Given the description of an element on the screen output the (x, y) to click on. 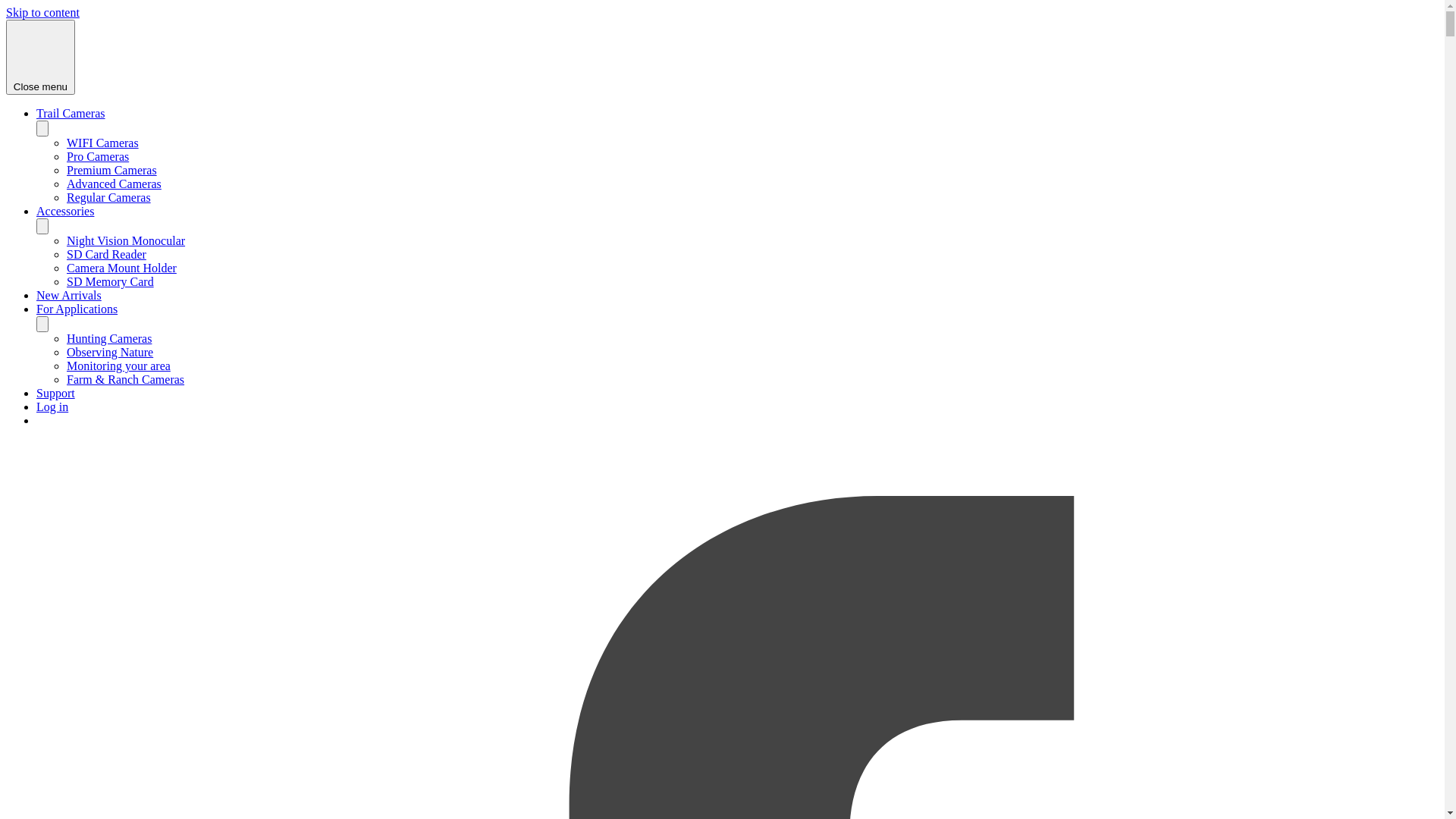
Trail Cameras Element type: text (70, 112)
Monitoring your area Element type: text (118, 365)
Farm & Ranch Cameras Element type: text (125, 379)
Accessories Element type: text (65, 210)
Support Element type: text (55, 392)
Close menu Element type: text (40, 56)
Night Vision Monocular Element type: text (125, 240)
For Applications Element type: text (76, 308)
Pro Cameras Element type: text (97, 156)
Camera Mount Holder Element type: text (121, 267)
Regular Cameras Element type: text (108, 197)
Premium Cameras Element type: text (111, 169)
Observing Nature Element type: text (109, 351)
New Arrivals Element type: text (68, 294)
Skip to content Element type: text (42, 12)
Advanced Cameras Element type: text (113, 183)
Hunting Cameras Element type: text (108, 338)
SD Card Reader Element type: text (106, 253)
Log in Element type: text (52, 406)
SD Memory Card Element type: text (109, 281)
WIFI Cameras Element type: text (102, 142)
